Given the description of an element on the screen output the (x, y) to click on. 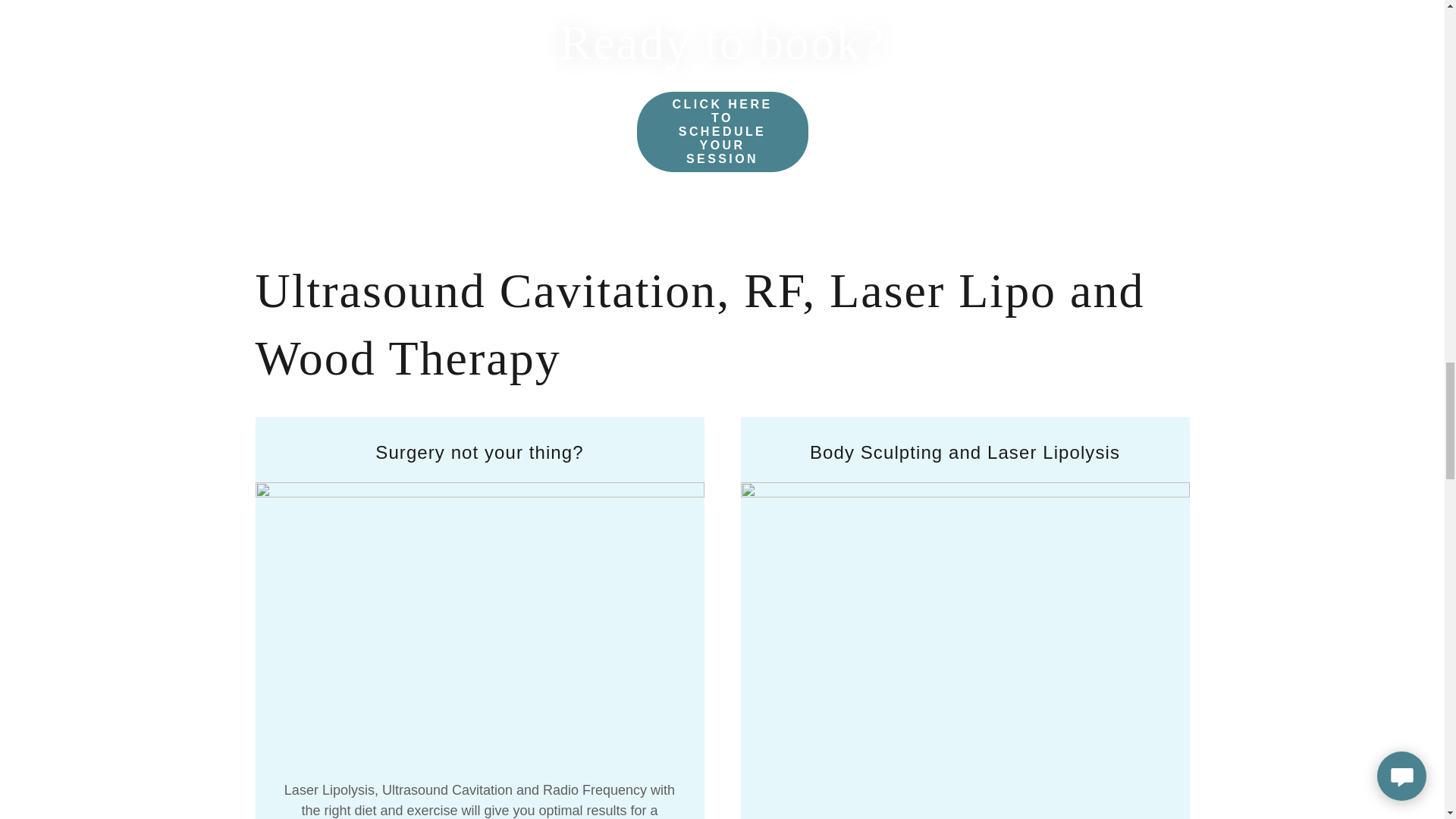
CLICK HERE TO SCHEDULE YOUR SESSION (722, 131)
